Given the description of an element on the screen output the (x, y) to click on. 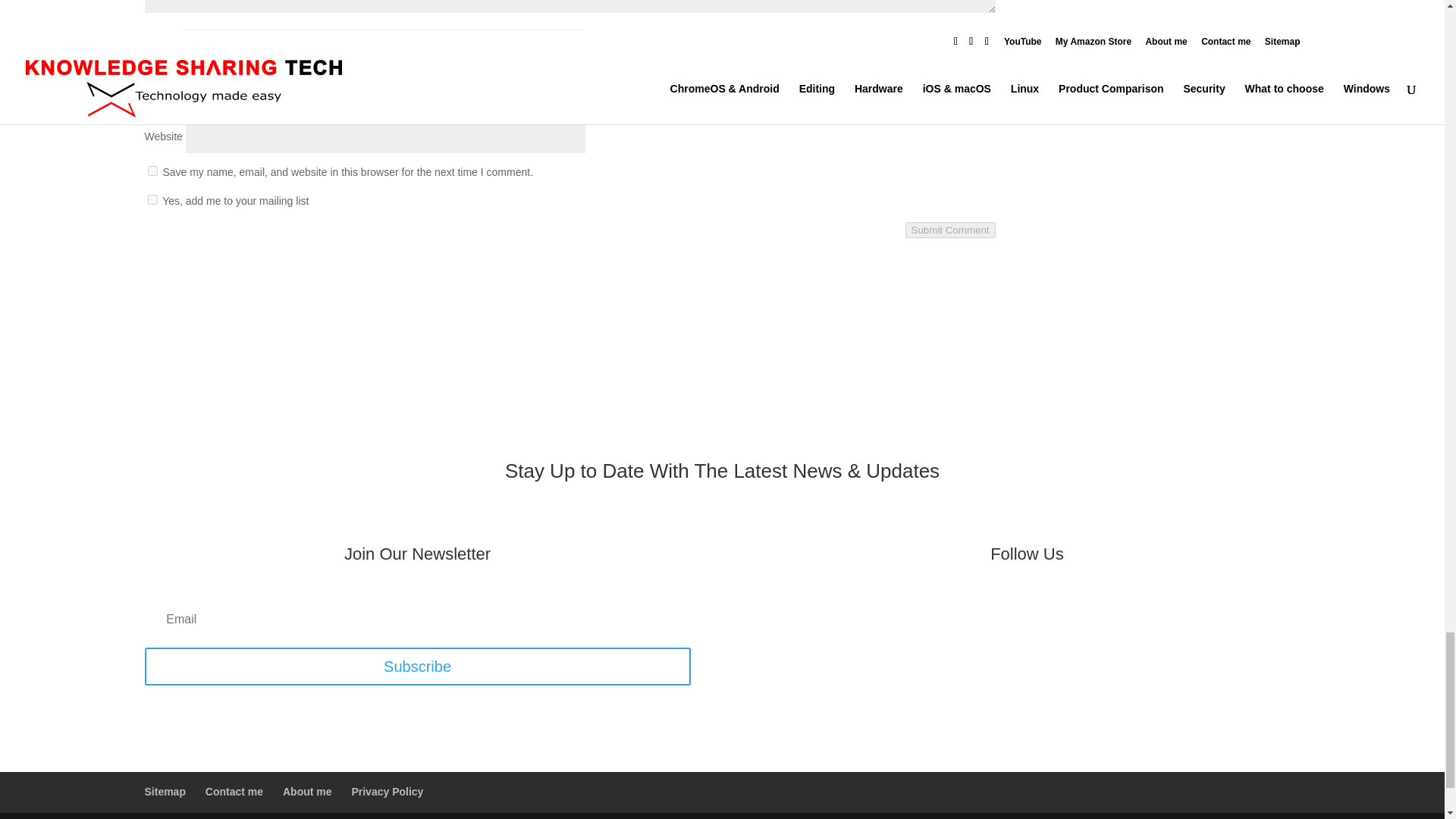
Follow on Facebook (1010, 613)
Submit Comment (950, 229)
Follow on X (1041, 613)
Follow on Instagram (1071, 613)
Follow on Youtube (980, 613)
yes (152, 171)
1 (152, 199)
